Given the description of an element on the screen output the (x, y) to click on. 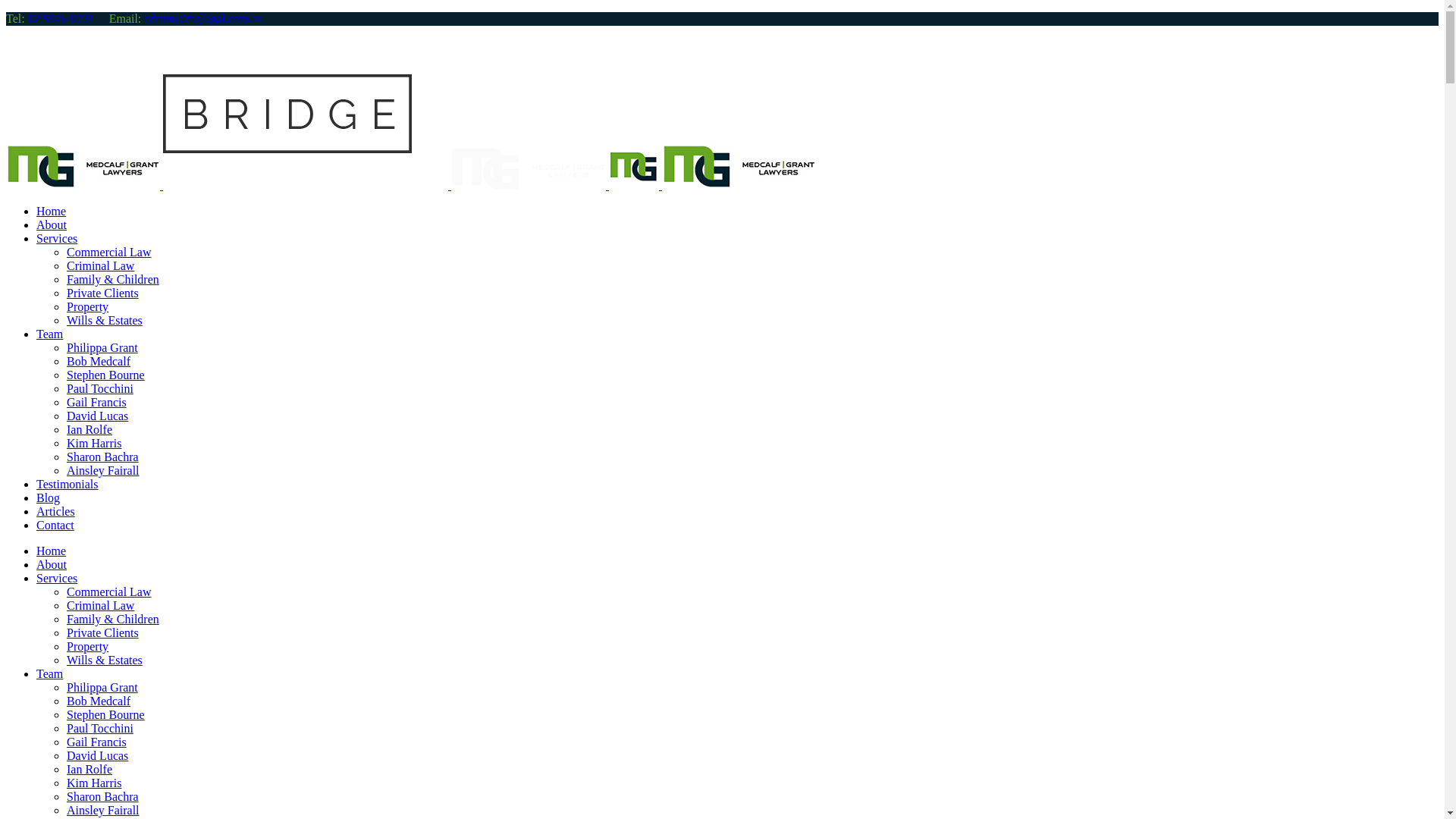
Criminal Law Element type: text (100, 605)
About Element type: text (51, 564)
Paul Tocchini Element type: text (99, 727)
Ian Rolfe Element type: text (89, 768)
Ainsley Fairall Element type: text (102, 809)
02 9976 0231 Element type: text (62, 18)
Contact Element type: text (55, 524)
Home Element type: text (50, 550)
Property Element type: text (87, 306)
David Lucas Element type: text (97, 755)
Philippa Grant Element type: text (102, 686)
David Lucas Element type: text (97, 415)
Family & Children Element type: text (112, 618)
Criminal Law Element type: text (100, 265)
About Element type: text (51, 224)
Team Element type: text (49, 673)
Bob Medcalf Element type: text (98, 700)
Ainsley Fairall Element type: text (102, 470)
Blog Element type: text (47, 497)
admin@mglegal.com.au Element type: text (203, 18)
Private Clients Element type: text (102, 632)
Property Element type: text (87, 646)
Gail Francis Element type: text (96, 401)
Kim Harris Element type: text (93, 442)
Articles Element type: text (55, 511)
Team Element type: text (49, 333)
Sharon Bachra Element type: text (102, 796)
Home Element type: text (50, 210)
Wills & Estates Element type: text (104, 659)
Stephen Bourne Element type: text (105, 714)
Services Element type: text (56, 577)
Testimonials Element type: text (67, 483)
Services Element type: text (56, 238)
Philippa Grant Element type: text (102, 347)
Paul Tocchini Element type: text (99, 388)
Commercial Law Element type: text (108, 591)
Ian Rolfe Element type: text (89, 429)
Stephen Bourne Element type: text (105, 374)
Kim Harris Element type: text (93, 782)
Wills & Estates Element type: text (104, 319)
Sharon Bachra Element type: text (102, 456)
Commercial Law Element type: text (108, 251)
Private Clients Element type: text (102, 292)
Family & Children Element type: text (112, 279)
Gail Francis Element type: text (96, 741)
Bob Medcalf Element type: text (98, 360)
